Given the description of an element on the screen output the (x, y) to click on. 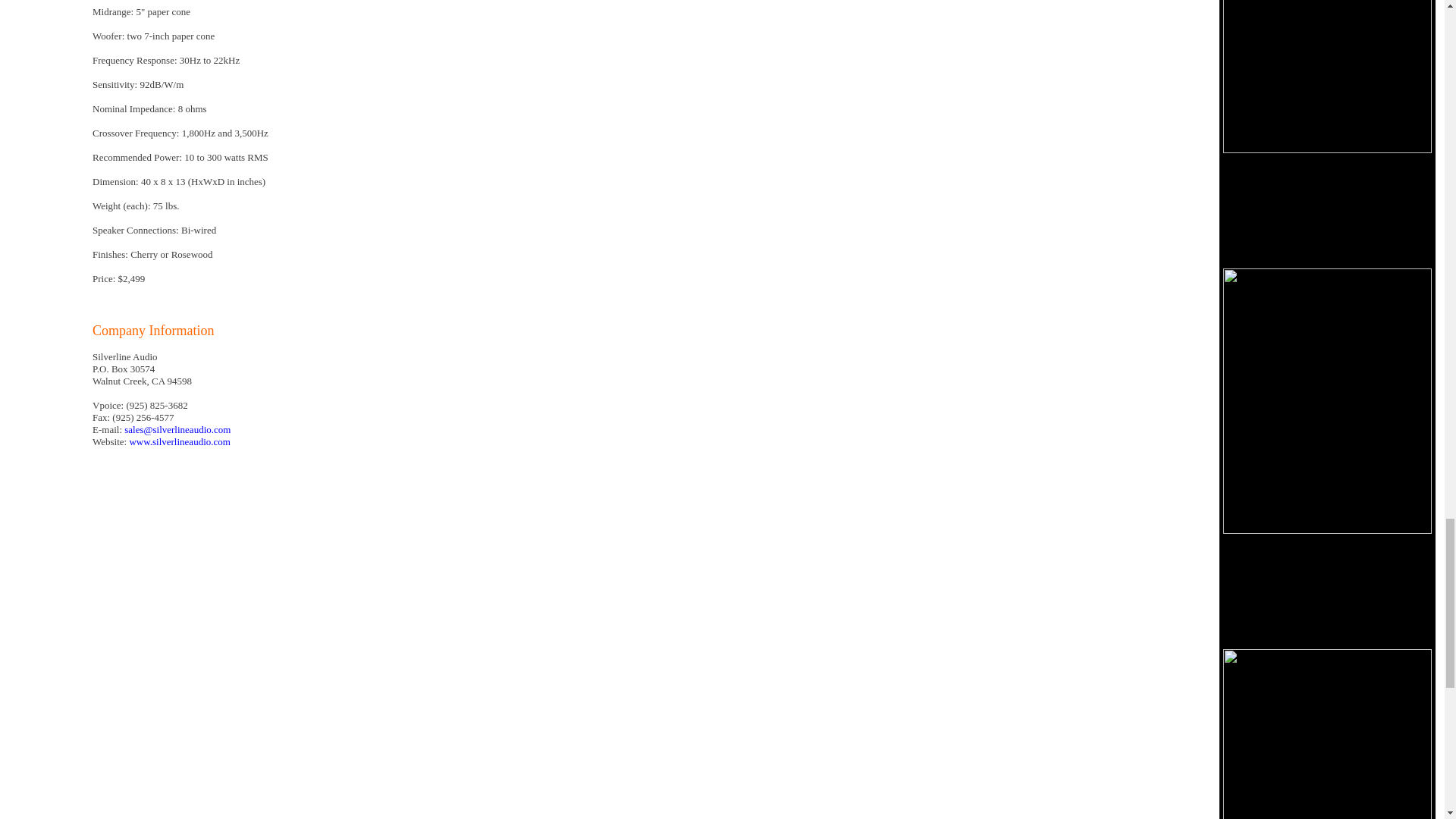
www.silverlineaudio.com (179, 441)
